Given the description of an element on the screen output the (x, y) to click on. 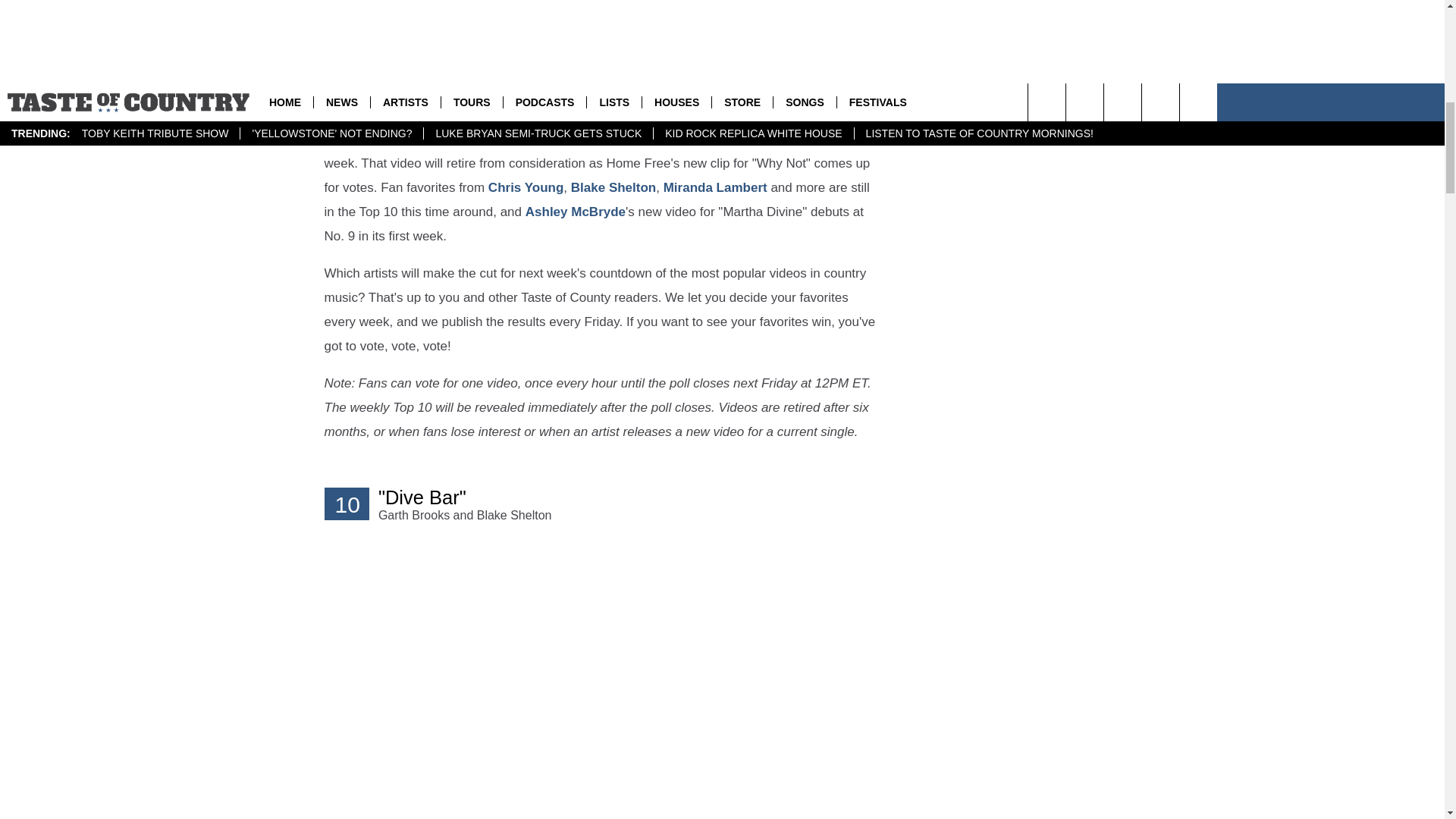
Chris Young (525, 187)
Gabby Barrett (494, 77)
Ashley McBryde (575, 211)
Blake Shelton (613, 187)
Rachel Wammack (473, 138)
Miranda Lambert (715, 187)
Home Free (357, 138)
